Given the description of an element on the screen output the (x, y) to click on. 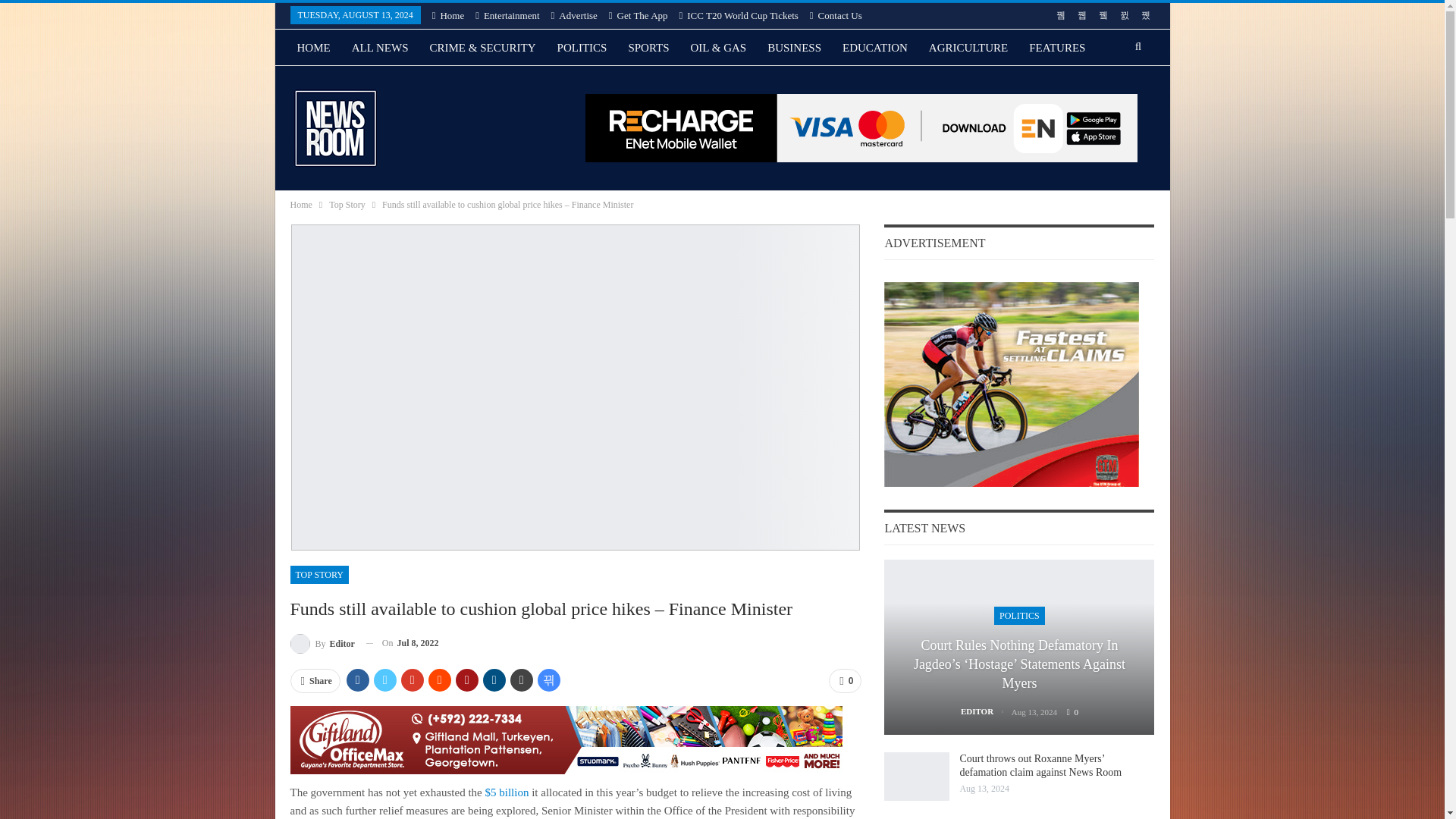
Contact Us (835, 15)
Home (300, 204)
LETTERS (386, 84)
Top Story (347, 204)
Advertise (573, 15)
Browse Author Articles (321, 643)
AGRICULTURE (967, 47)
Get The App (638, 15)
ICC T20 World Cup Tickets (738, 15)
TOP STORY (318, 574)
